Given the description of an element on the screen output the (x, y) to click on. 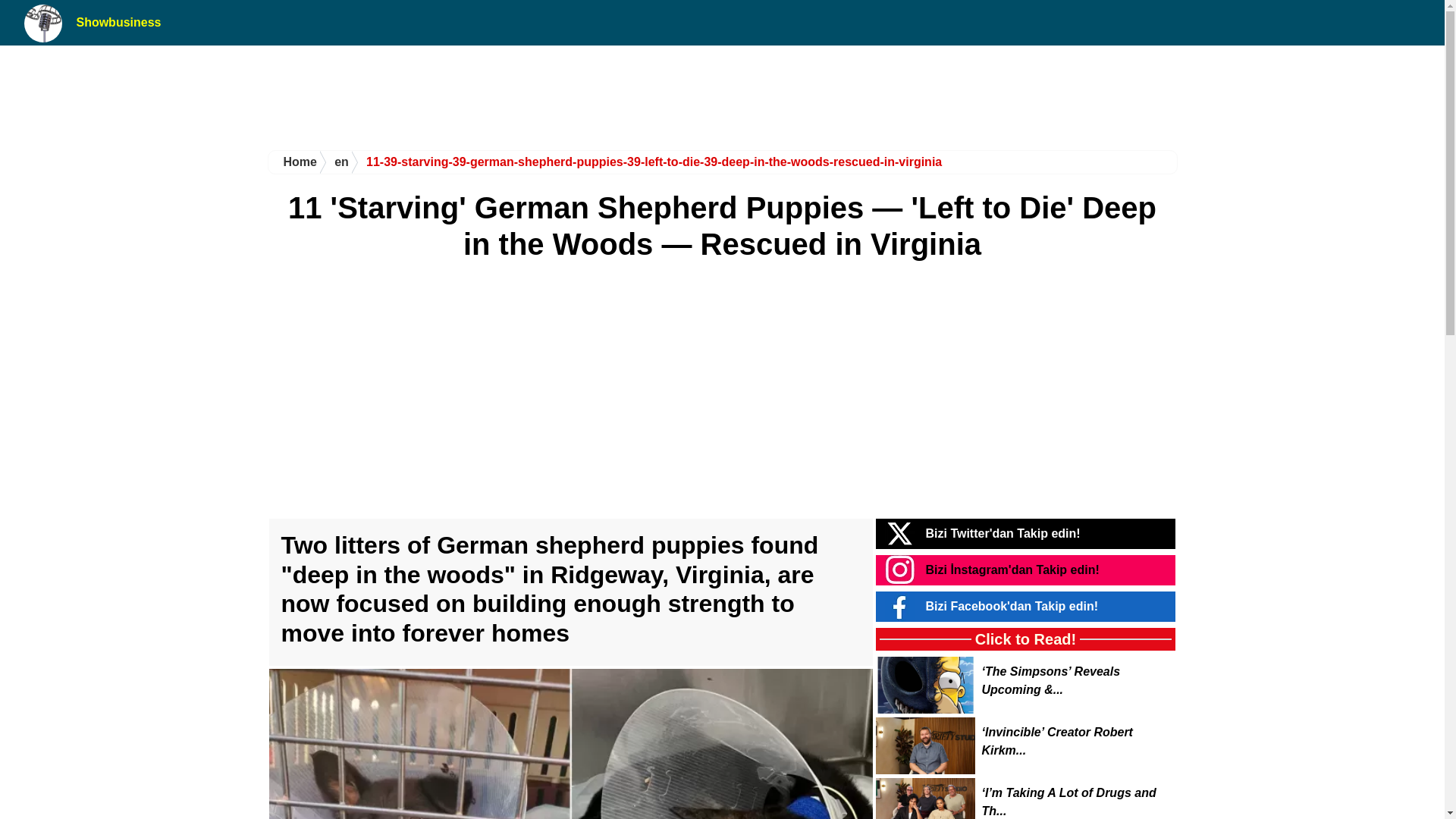
Bizi Facebook'dan Takip edin! (1010, 605)
en (334, 161)
Bizi Twitter'dan Takip edin! (1002, 533)
Home (293, 161)
